Given the description of an element on the screen output the (x, y) to click on. 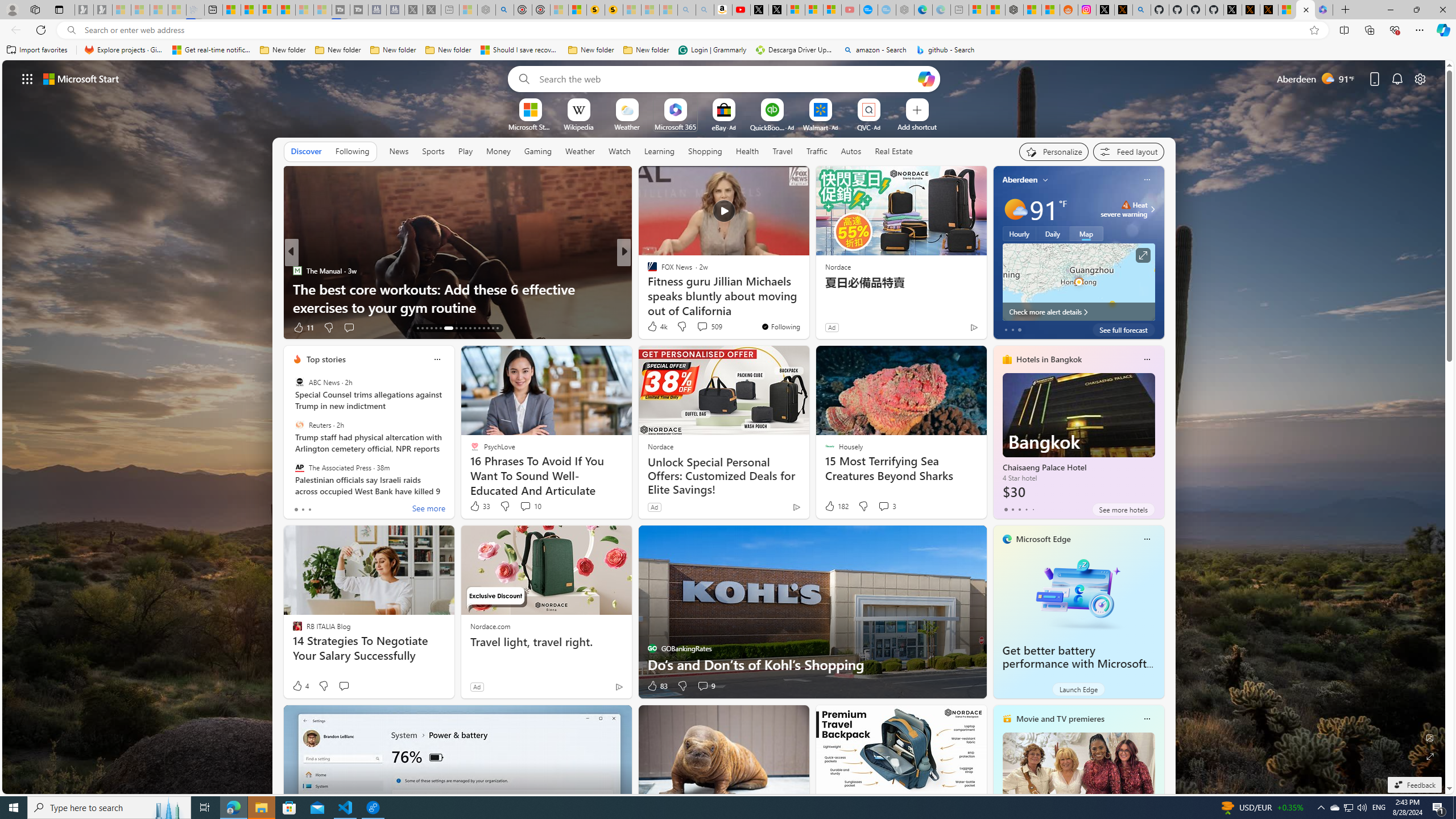
49 Like (652, 327)
To get missing image descriptions, open the context menu. (529, 109)
Travel (782, 151)
Feed settings (1128, 151)
The most popular Google 'how to' searches - Sleeping (887, 9)
Health (746, 151)
tab-0 (1005, 509)
More Options (886, 101)
Traffic (816, 151)
